Given the description of an element on the screen output the (x, y) to click on. 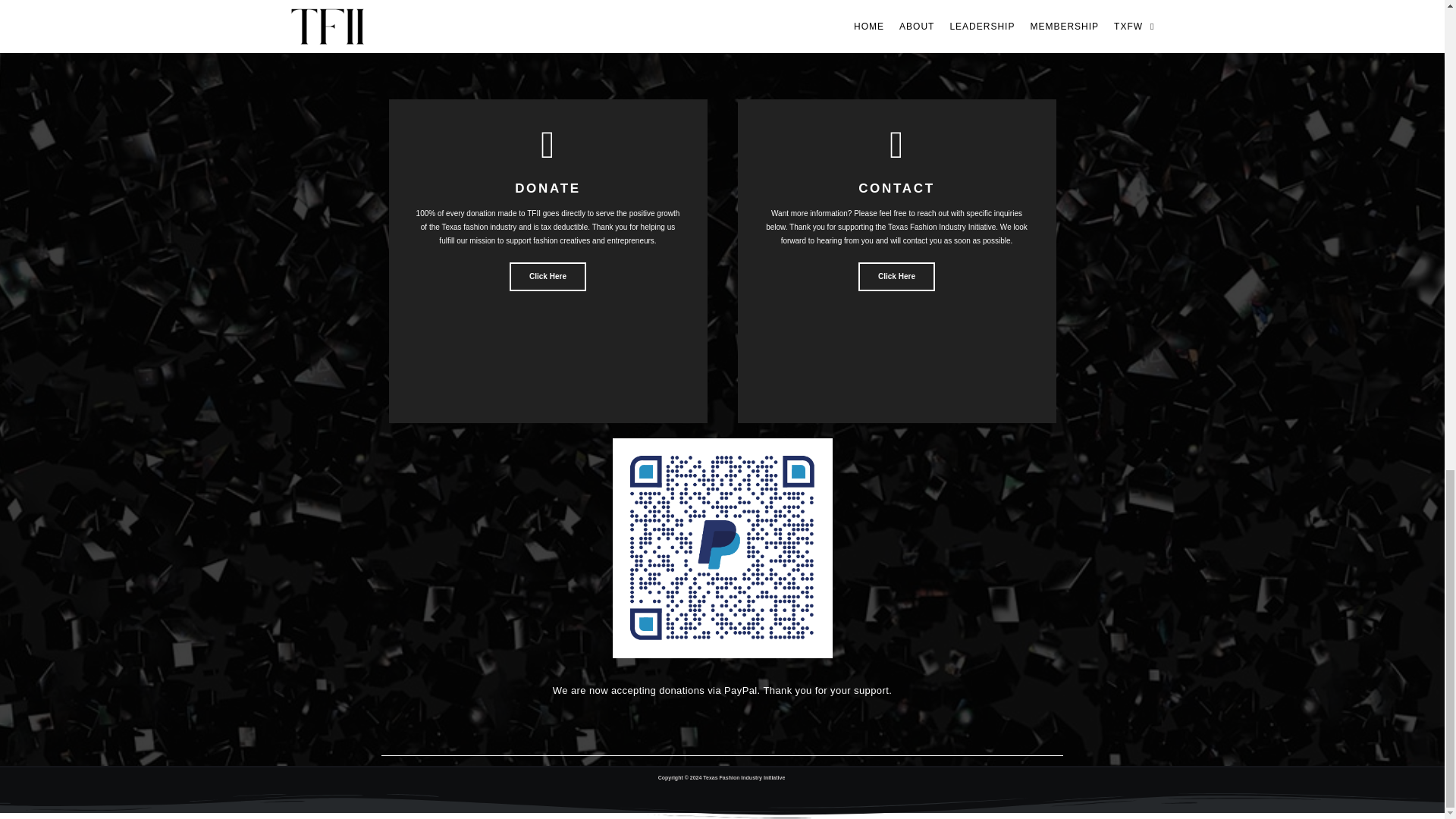
Click Here (896, 276)
Click Here (547, 276)
